Given the description of an element on the screen output the (x, y) to click on. 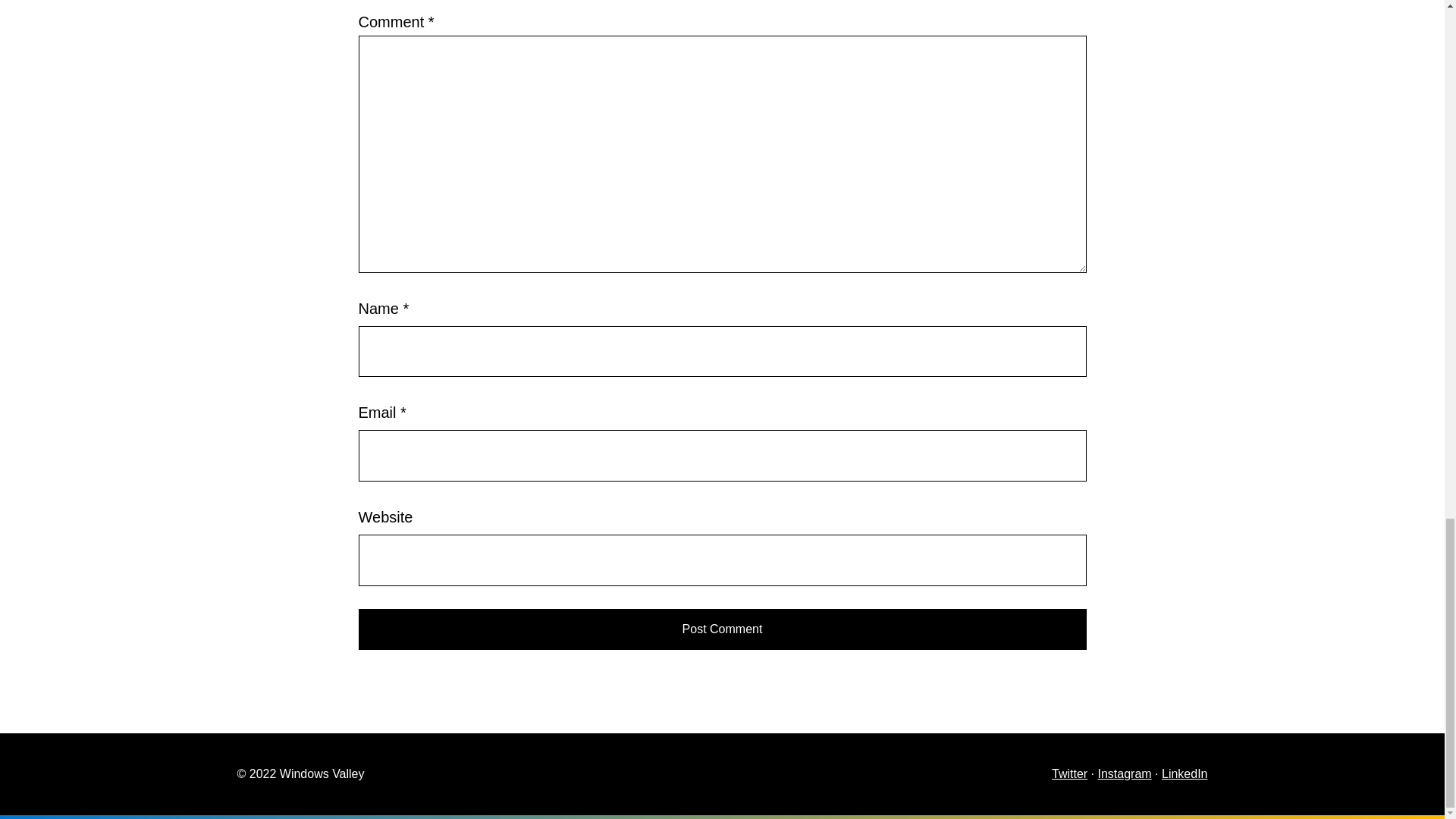
LinkedIn (1184, 773)
Post Comment (722, 629)
Post Comment (722, 629)
Twitter (1069, 773)
Instagram (1124, 773)
